Given the description of an element on the screen output the (x, y) to click on. 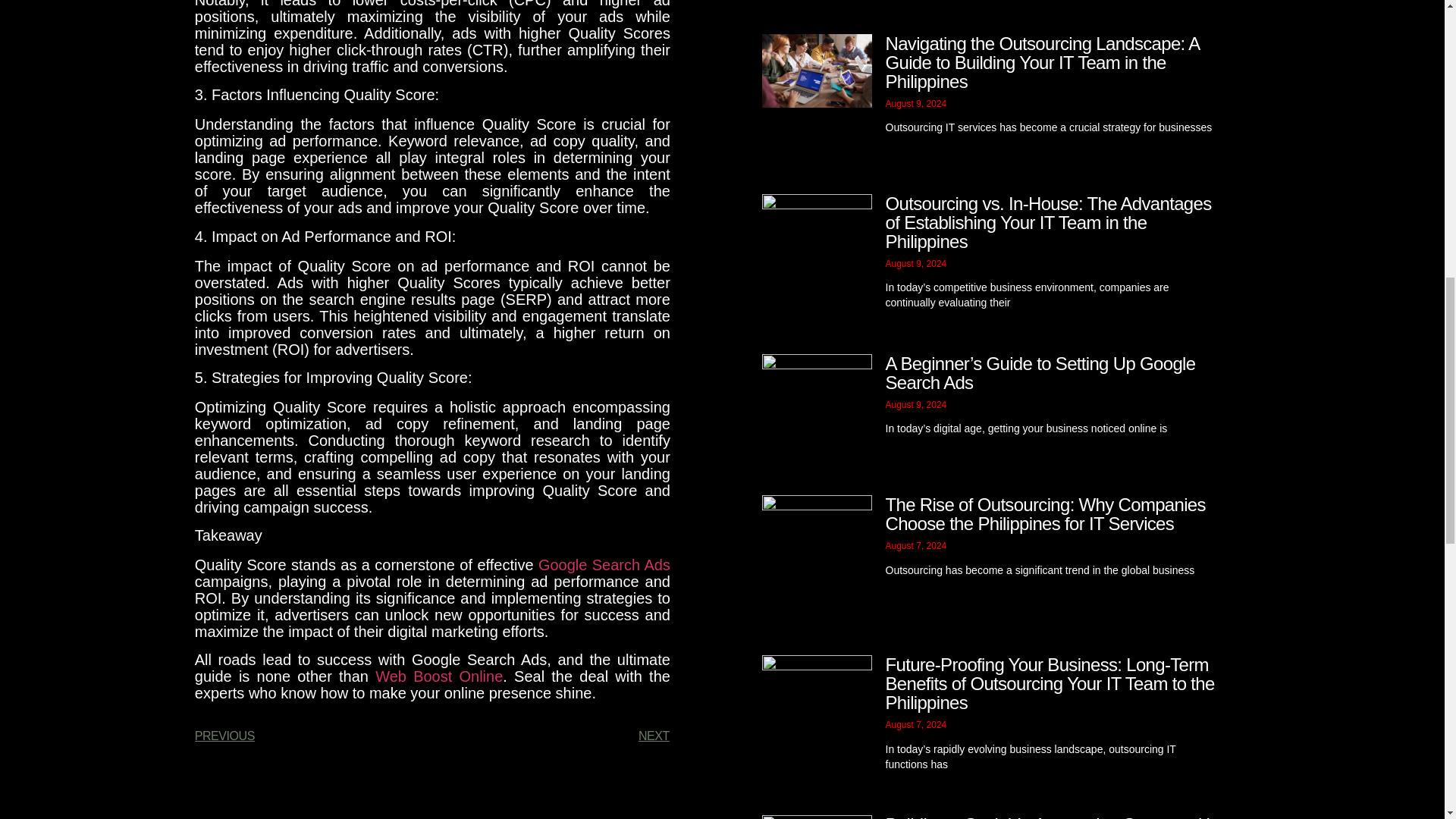
Web Boost Online (438, 676)
Building a Scalable Accounting System with Outsourcing (1050, 816)
PREVIOUS (313, 736)
Google Search Ads (603, 564)
NEXT (550, 736)
